Given the description of an element on the screen output the (x, y) to click on. 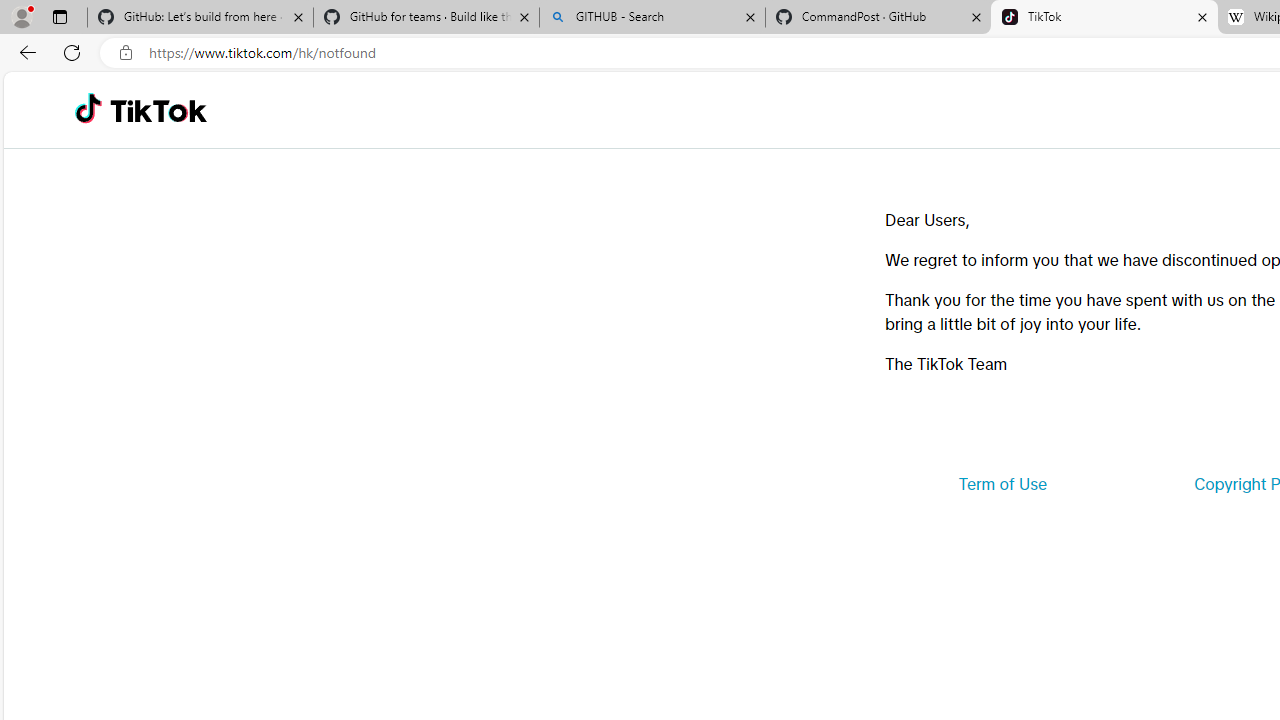
Term of Use (1002, 484)
GITHUB - Search (652, 17)
